Given the description of an element on the screen output the (x, y) to click on. 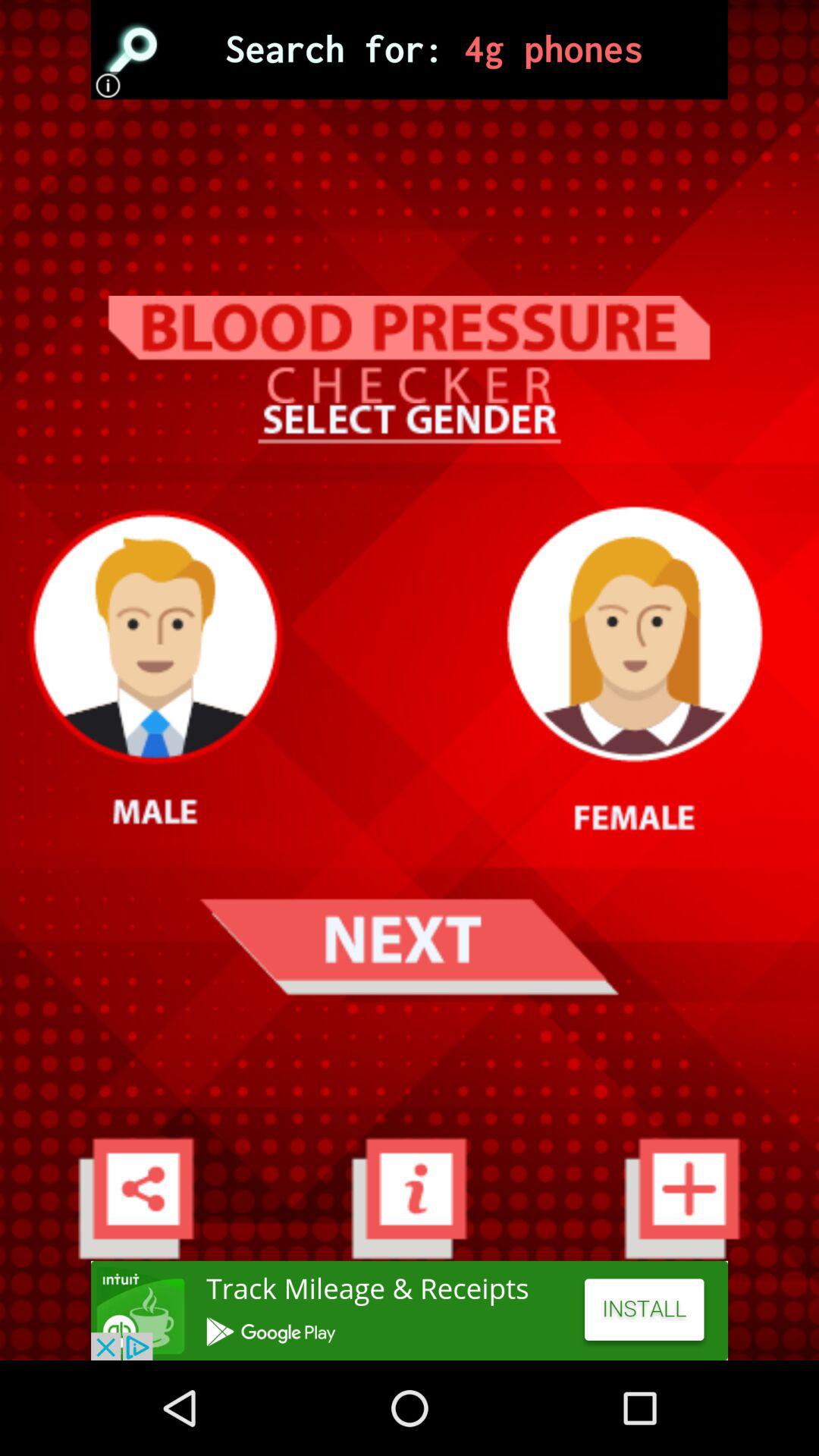
see information (408, 1197)
